Given the description of an element on the screen output the (x, y) to click on. 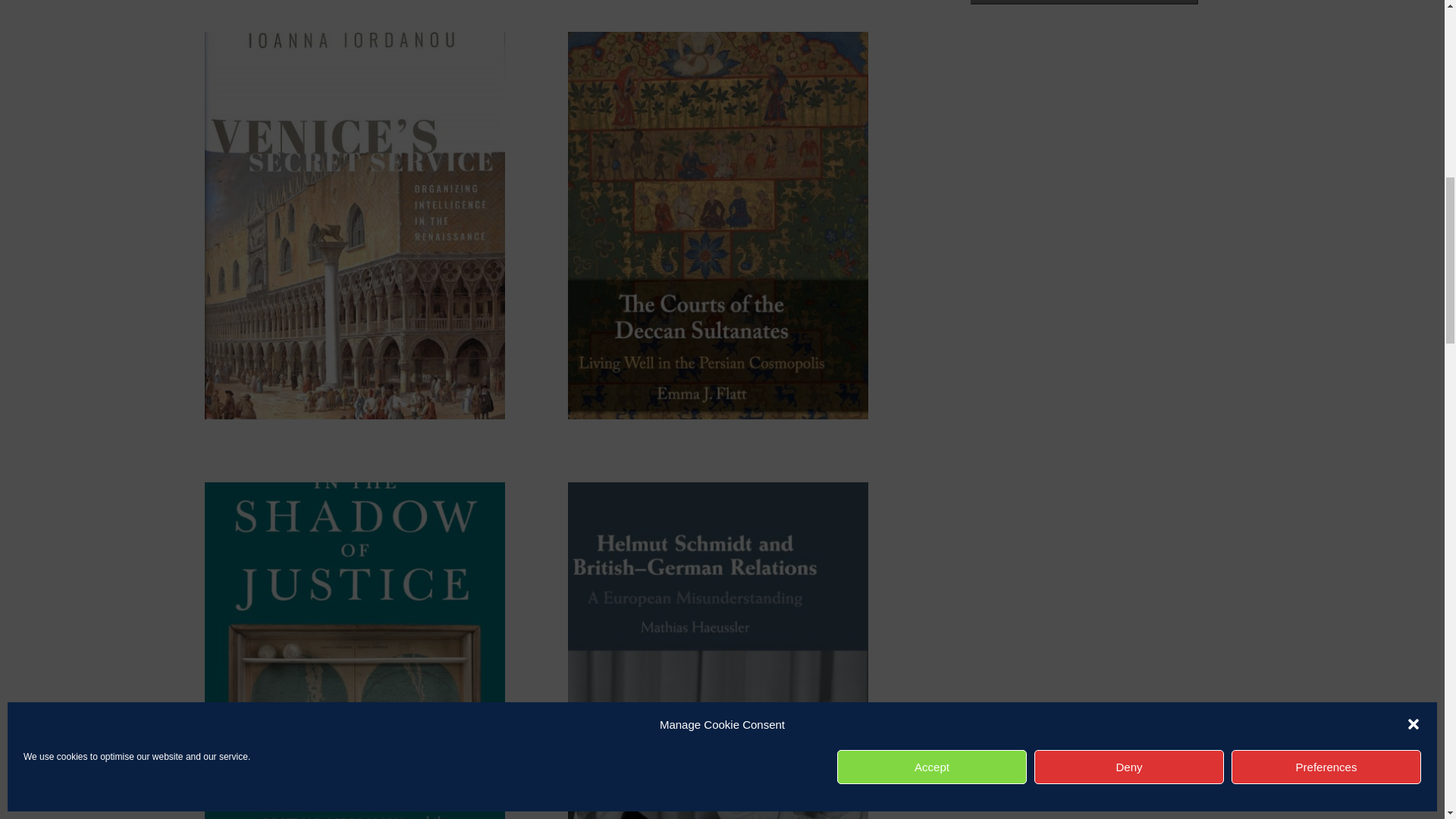
Iordanou (355, 414)
Flatt (717, 414)
